Given the description of an element on the screen output the (x, y) to click on. 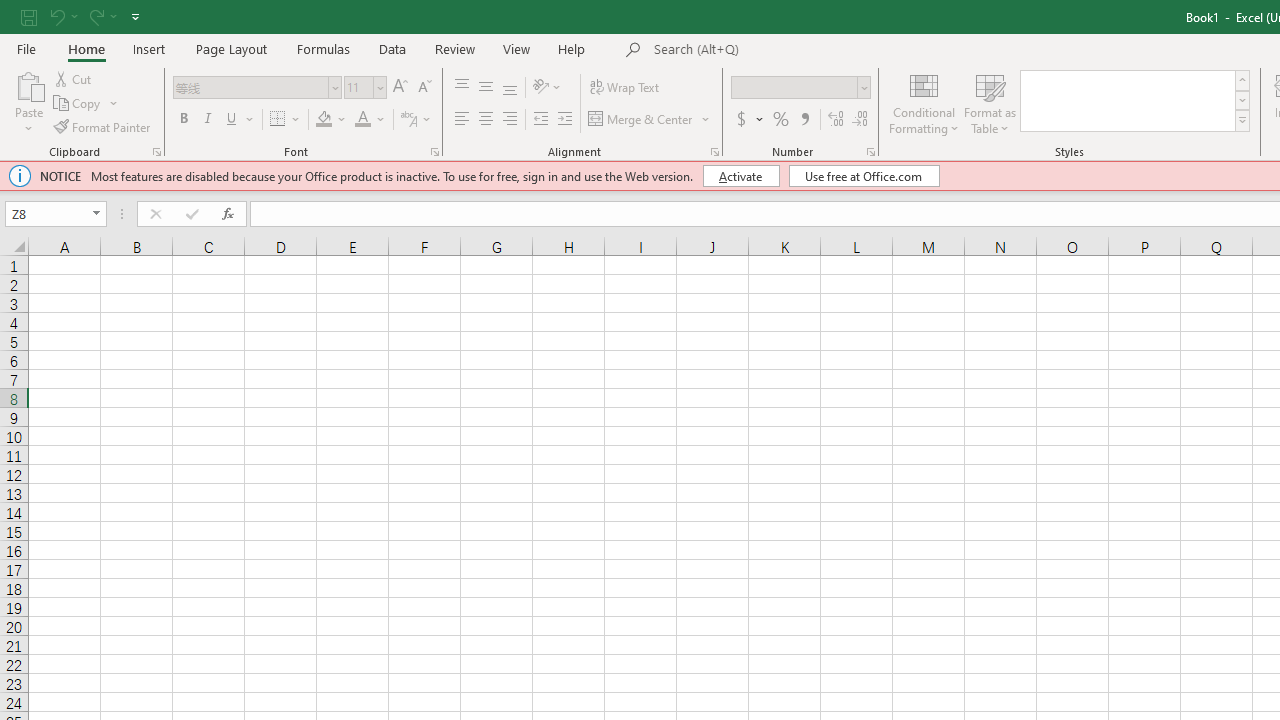
Bottom Border (278, 119)
Comma Style (804, 119)
Increase Indent (565, 119)
Decrease Decimal (859, 119)
Increase Decimal (836, 119)
